Given the description of an element on the screen output the (x, y) to click on. 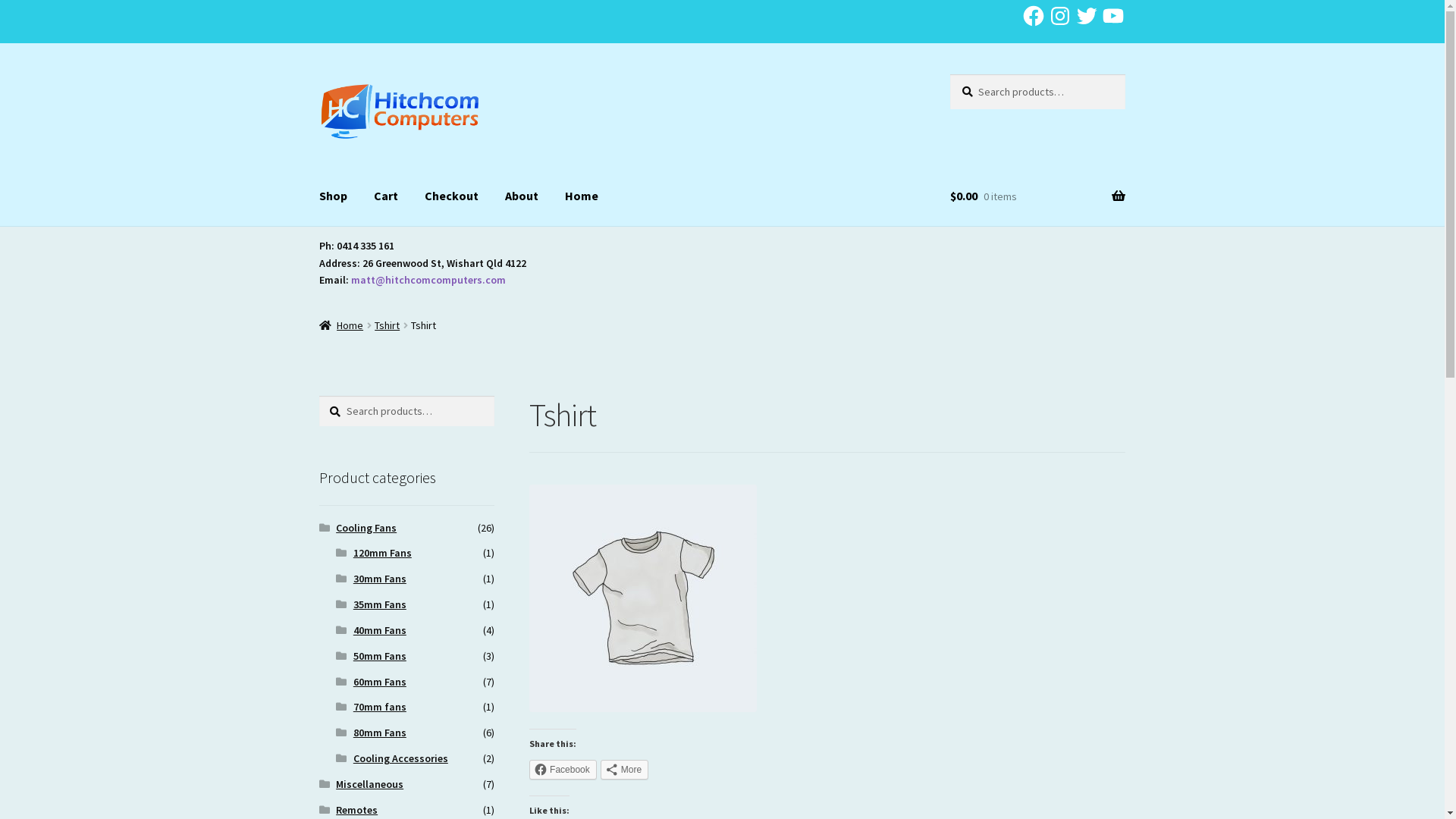
Cart Element type: text (385, 195)
More Element type: text (624, 769)
70mm fans Element type: text (379, 706)
About Element type: text (521, 195)
50mm Fans Element type: text (379, 655)
Search Element type: text (949, 73)
Tshirt Element type: text (386, 325)
$0.00 0 items Element type: text (1037, 195)
matt@hitchcomcomputers.com Element type: text (428, 279)
Checkout Element type: text (451, 195)
Instagram Element type: text (1060, 15)
Cooling Fans Element type: text (365, 527)
40mm Fans Element type: text (379, 630)
Home Element type: text (341, 325)
Home Element type: text (581, 195)
Cooling Accessories Element type: text (400, 758)
80mm Fans Element type: text (379, 732)
Facebook Element type: text (562, 769)
YouTube Element type: text (1113, 15)
Shop Element type: text (333, 195)
35mm Fans Element type: text (379, 604)
Miscellaneous Element type: text (369, 783)
60mm Fans Element type: text (379, 681)
120mm Fans Element type: text (382, 552)
30mm Fans Element type: text (379, 578)
Skip to navigation Element type: text (318, 73)
Search Element type: text (318, 395)
Remotes Element type: text (356, 809)
Twitter Element type: text (1086, 15)
Facebook Element type: text (1033, 15)
